Given the description of an element on the screen output the (x, y) to click on. 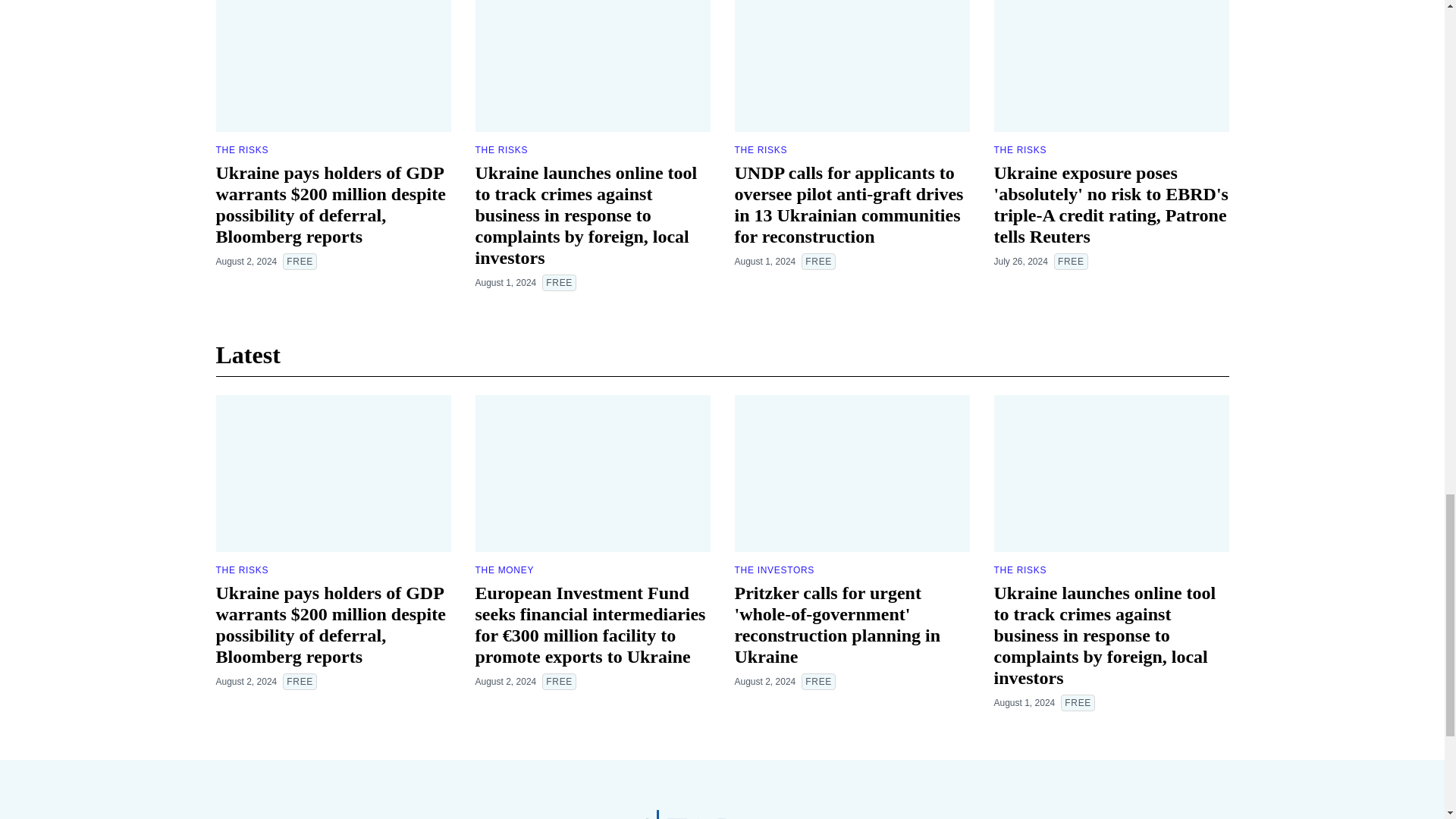
THE RISKS (241, 149)
THE RISKS (500, 149)
THE RISKS (760, 149)
